Given the description of an element on the screen output the (x, y) to click on. 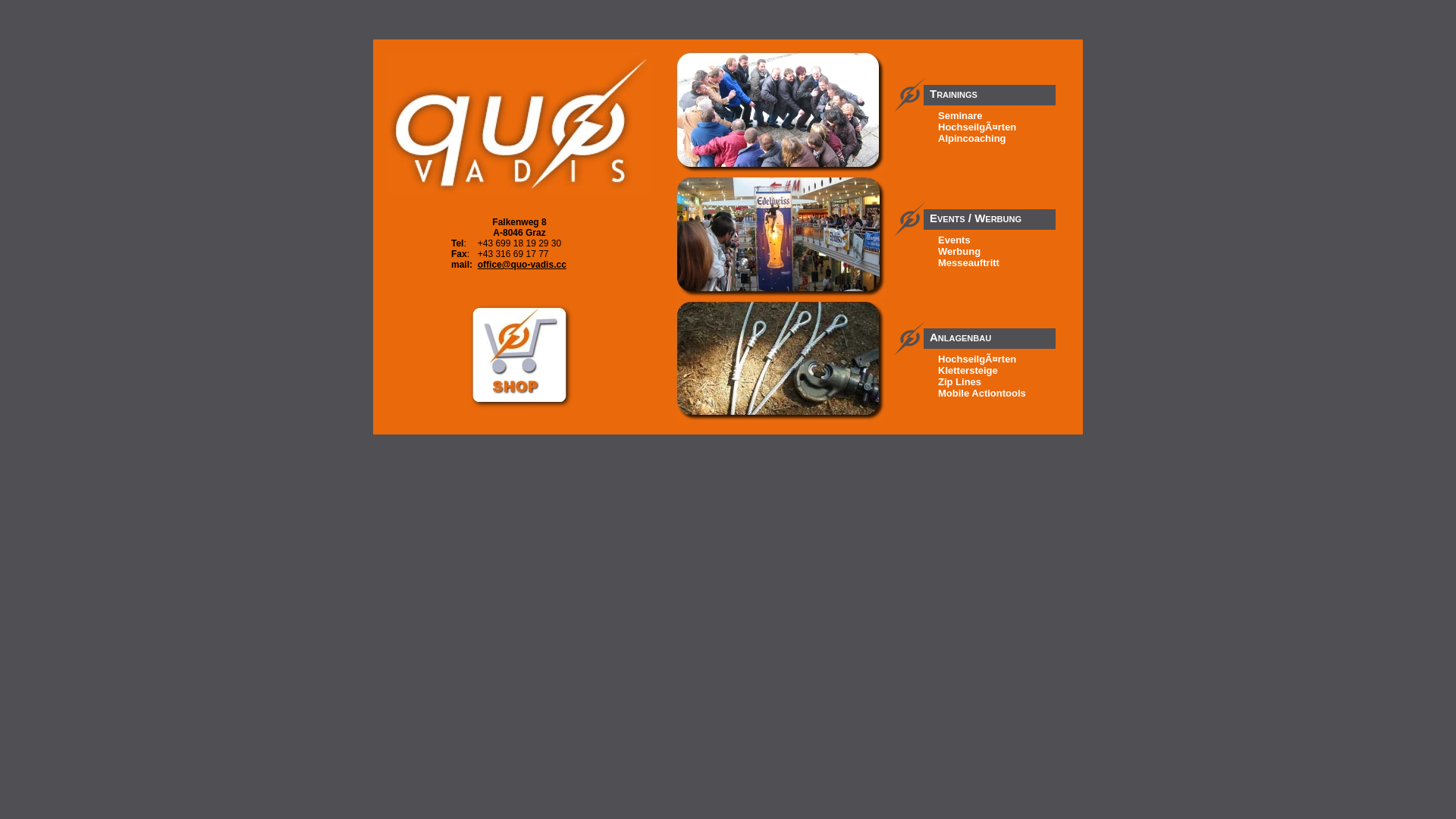
Trainings Element type: text (989, 87)
office@quo-vadis.cc Element type: text (521, 264)
Anlagenbau Element type: text (989, 330)
Events / Werbung Element type: text (989, 211)
